Given the description of an element on the screen output the (x, y) to click on. 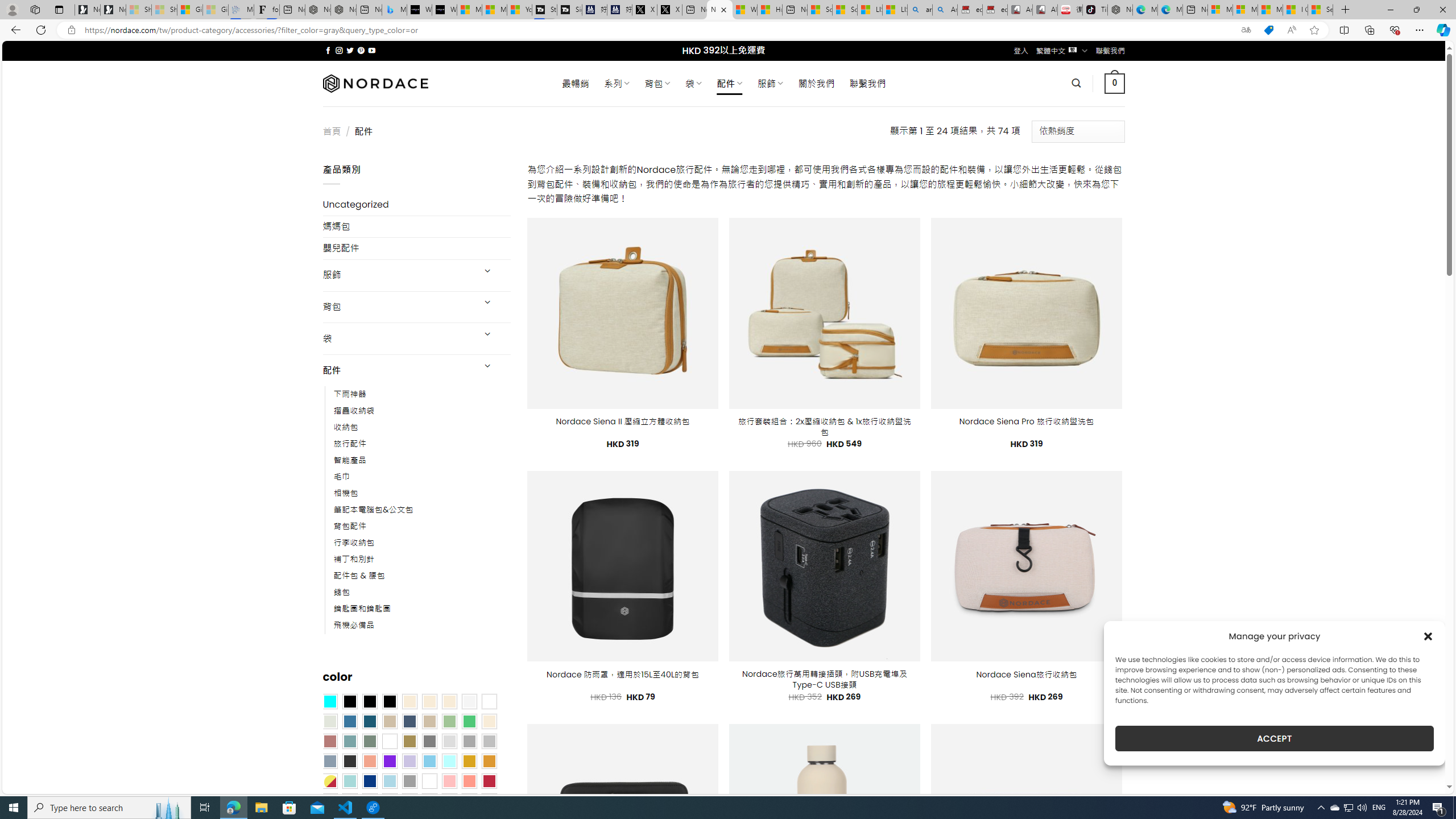
What's the best AI voice generator? - voice.ai (443, 9)
